Given the description of an element on the screen output the (x, y) to click on. 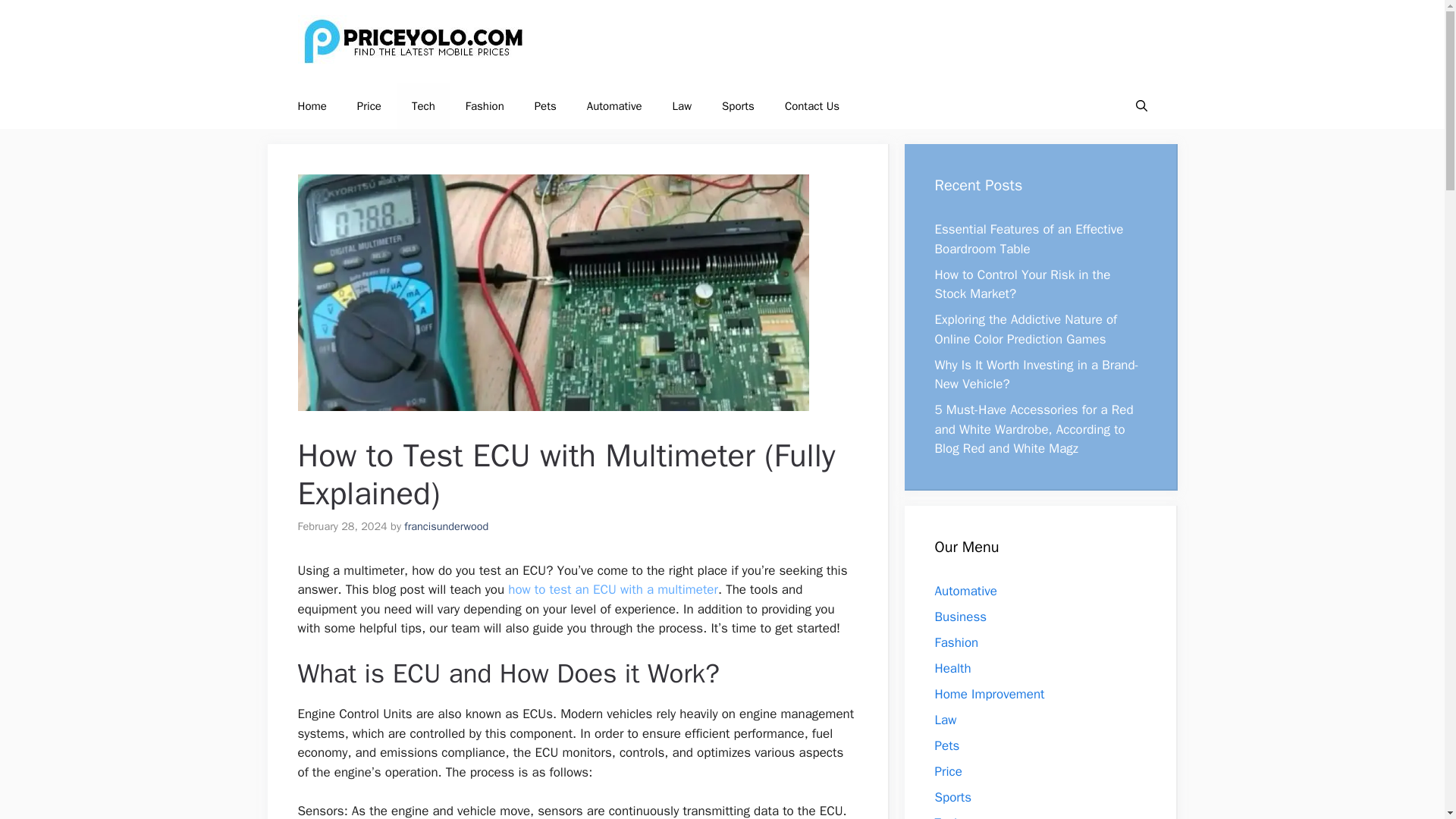
how to test an ECU with a multimeter (612, 589)
How to Control Your Risk in the Stock Market? (1021, 284)
Sports (952, 796)
Fashion (484, 105)
Fashion (956, 641)
Essential Features of an Effective Boardroom Table (1028, 239)
Automative (965, 590)
Law (945, 719)
Price (369, 105)
Home (311, 105)
